Given the description of an element on the screen output the (x, y) to click on. 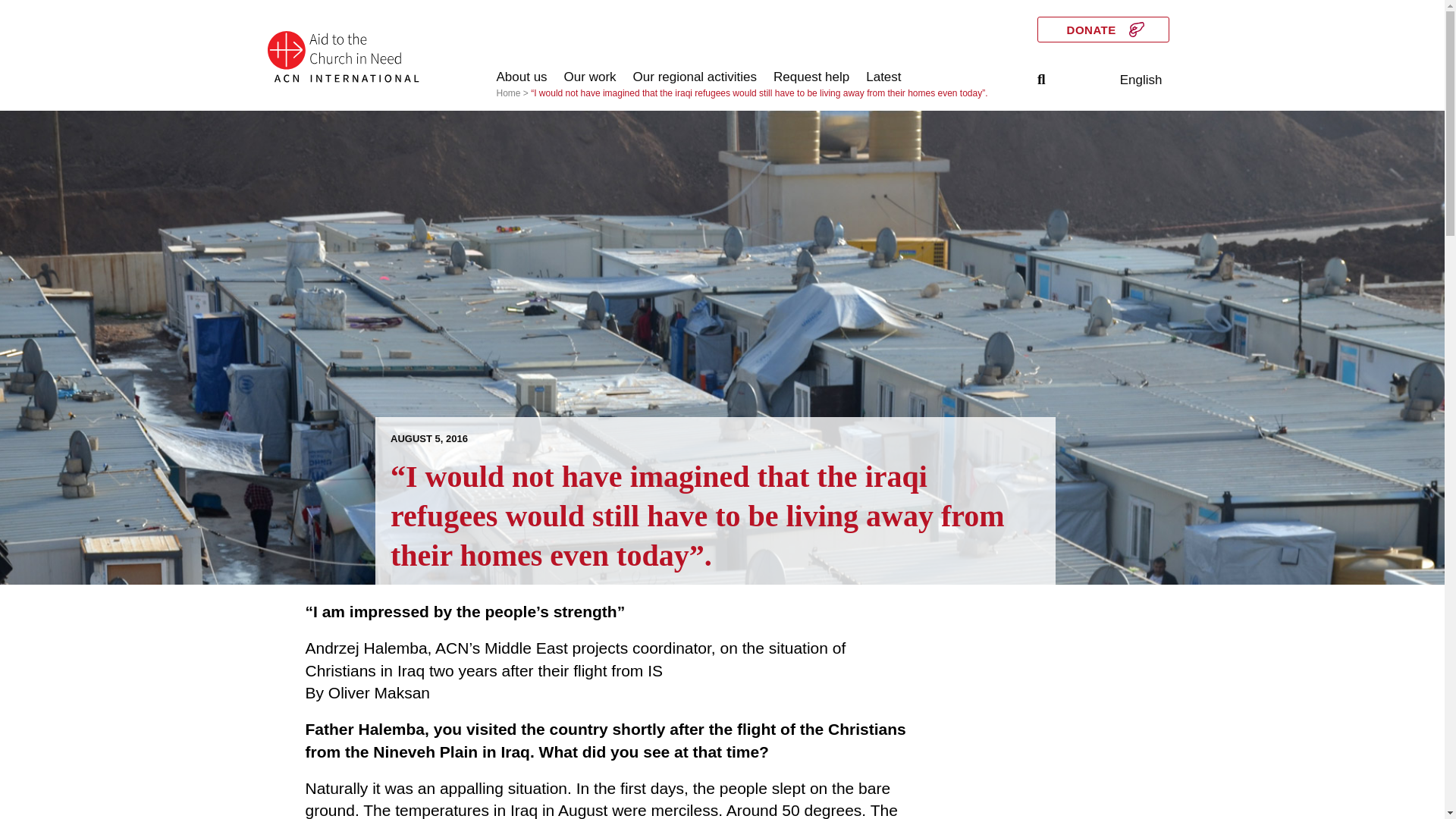
Our regional activities (695, 77)
Go to ACN International. (507, 92)
English (1141, 80)
Latest (883, 77)
Request help (810, 77)
About us (521, 77)
Our work (589, 77)
